Given the description of an element on the screen output the (x, y) to click on. 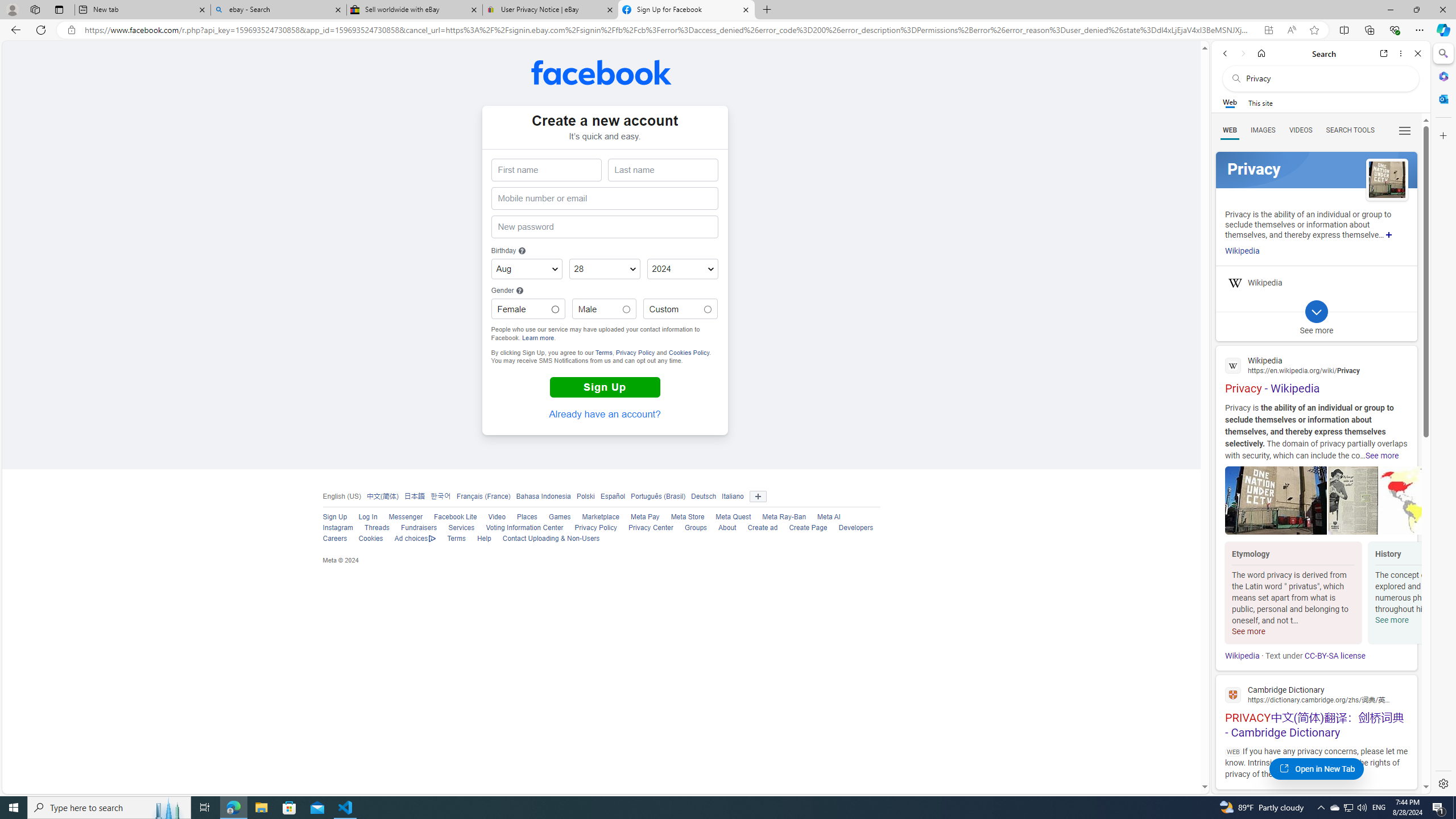
Careers (329, 538)
Meta Quest (732, 516)
Voting Information Center (524, 528)
Bahasa Indonesia (539, 496)
Preferences (1403, 129)
CC-BY-SA license (1334, 655)
Meta Store (681, 517)
Create Page (808, 528)
Forward (1242, 53)
Click for more information (518, 290)
Privacy Policy (596, 528)
Cambridge Dictionary (1315, 693)
